Given the description of an element on the screen output the (x, y) to click on. 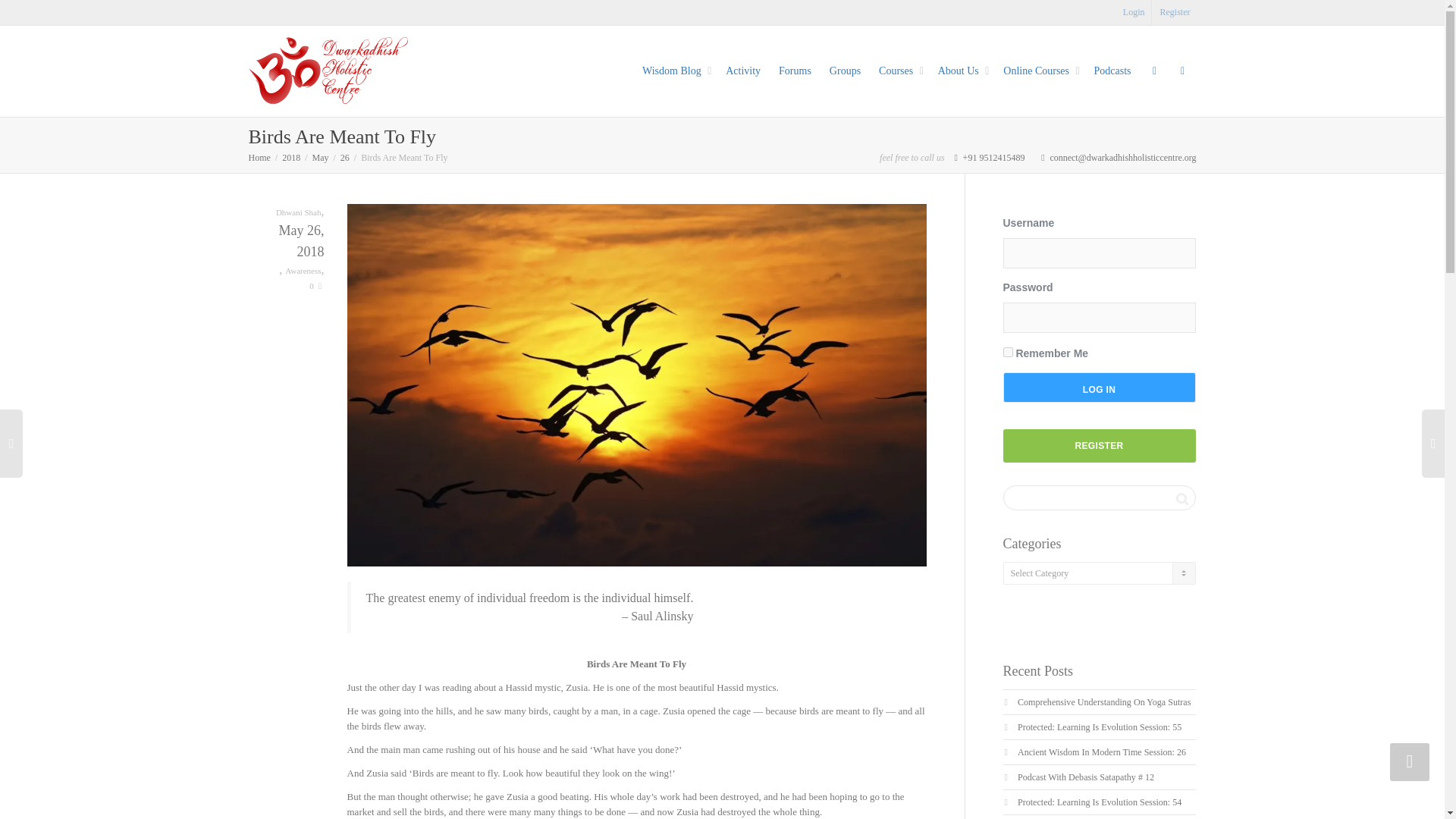
Register (1175, 12)
Dwarkadhish Holistic Centre (327, 70)
Log In (1099, 387)
Search (1181, 498)
Login (1133, 12)
Search (1181, 498)
forever (1007, 352)
Login (1133, 12)
Register (1175, 12)
